Given the description of an element on the screen output the (x, y) to click on. 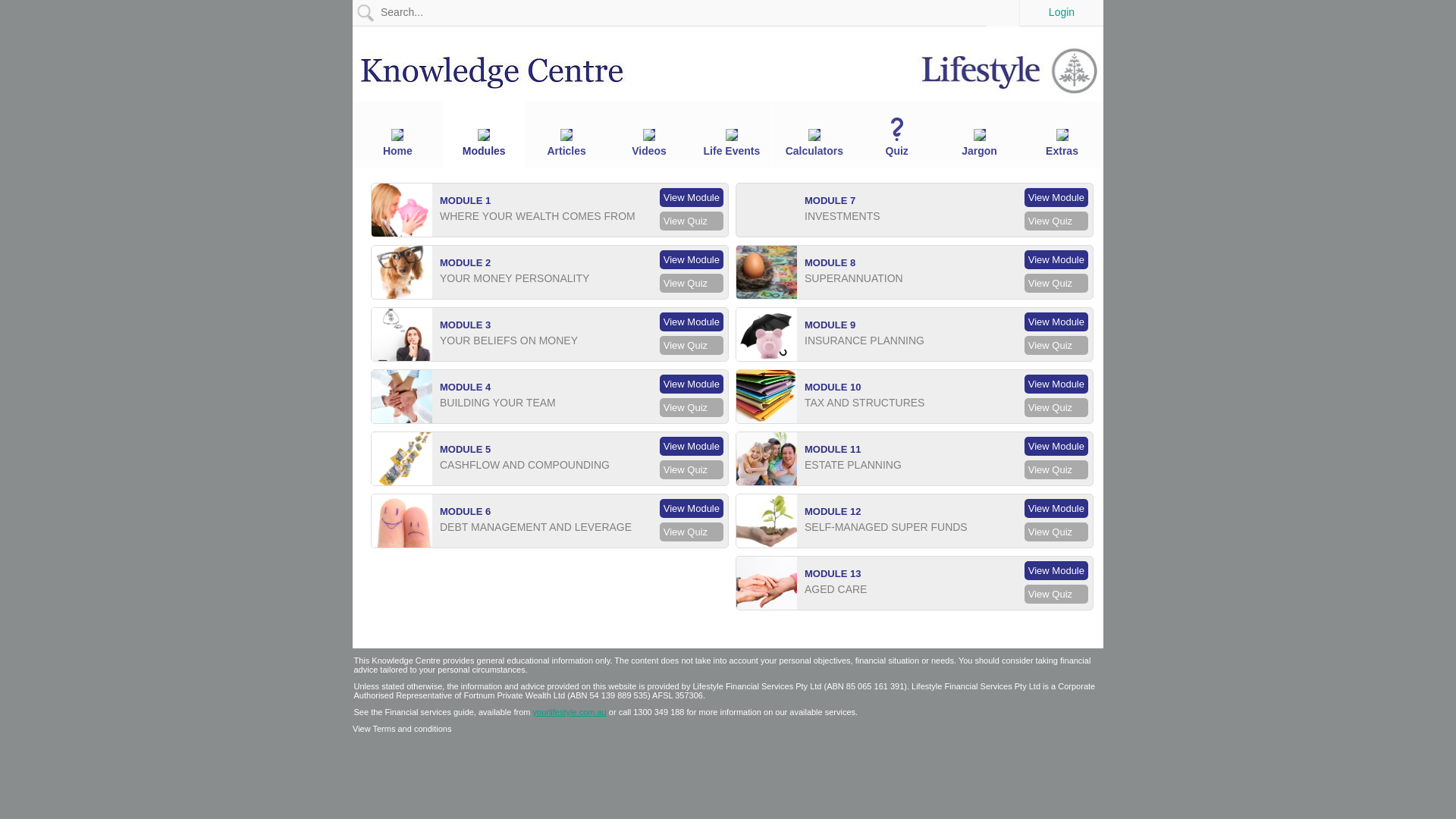
Quiz Element type: text (896, 136)
Home Element type: text (397, 142)
View Quiz Element type: text (1055, 344)
View Quiz Element type: text (1055, 531)
Life Events Element type: text (731, 142)
yourlifestyle.com.au Element type: text (569, 711)
View Module Element type: text (1055, 259)
View Quiz Element type: text (1055, 469)
Articles Element type: text (566, 142)
View Quiz Element type: text (691, 344)
View Module Element type: text (1055, 507)
View Module Element type: text (1055, 445)
View Quiz Element type: text (1055, 407)
View Quiz Element type: text (691, 469)
View Module Element type: text (691, 259)
View Module Element type: text (691, 445)
View Module Element type: text (1055, 321)
View Quiz Element type: text (691, 282)
View Module Element type: text (1055, 197)
View Quiz Element type: text (1055, 593)
View Module Element type: text (1055, 383)
View Module Element type: text (1055, 570)
Jargon Element type: text (979, 142)
View Module Element type: text (691, 321)
Modules Element type: text (483, 142)
View Quiz Element type: text (691, 407)
Extras Element type: text (1061, 142)
View Quiz Element type: text (691, 220)
View Terms and conditions Element type: text (401, 728)
View Module Element type: text (691, 507)
View Module Element type: text (691, 383)
Calculators Element type: text (813, 142)
View Quiz Element type: text (1055, 282)
View Quiz Element type: text (691, 531)
Videos Element type: text (649, 142)
View Quiz Element type: text (1055, 220)
View Module Element type: text (691, 197)
